Given the description of an element on the screen output the (x, y) to click on. 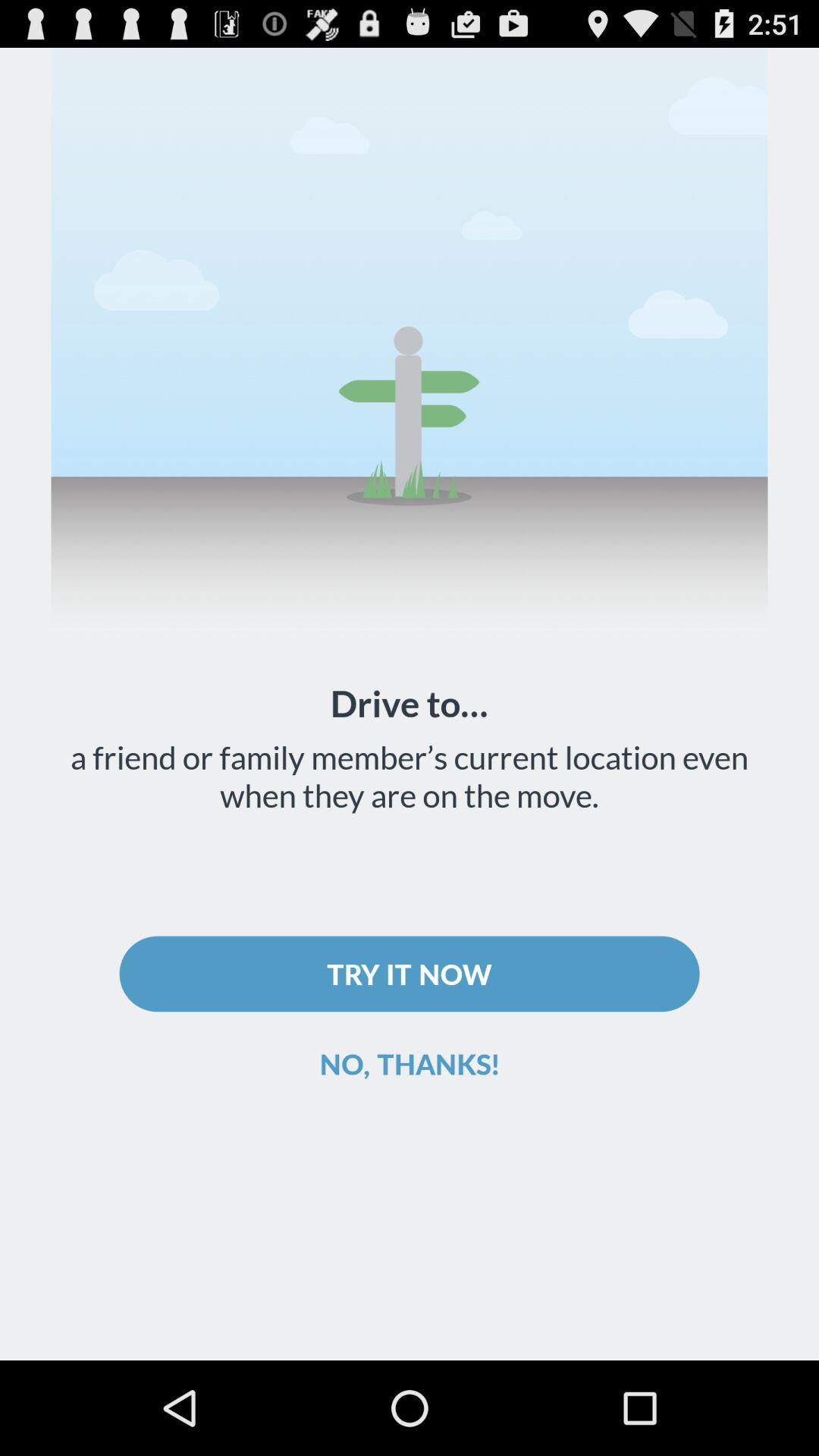
choose try it now icon (409, 973)
